Given the description of an element on the screen output the (x, y) to click on. 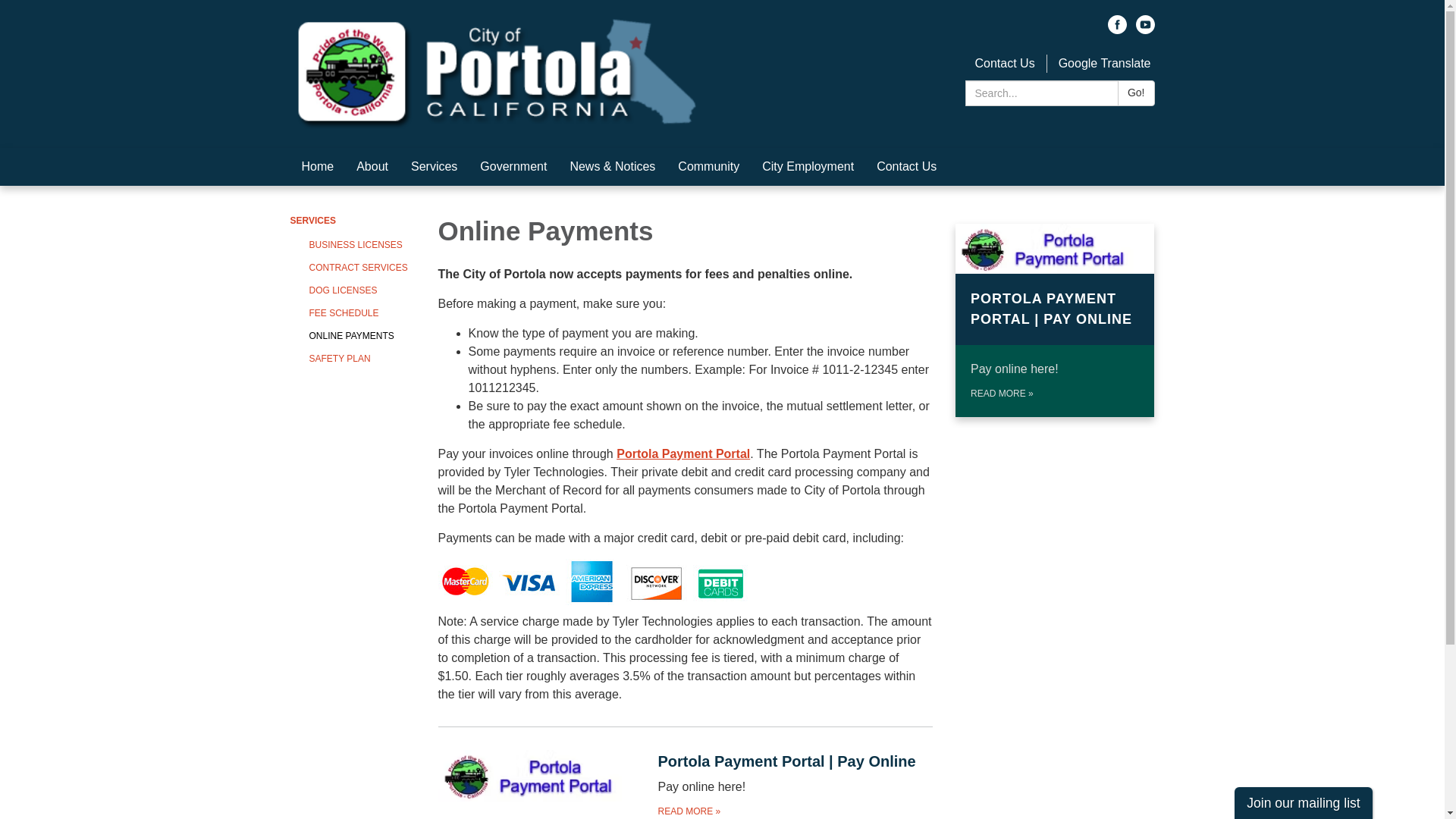
Contact Us (1003, 62)
Home (317, 166)
Government (512, 166)
Go! (1136, 93)
Google Translate (1103, 62)
Services (433, 166)
About (371, 166)
